Given the description of an element on the screen output the (x, y) to click on. 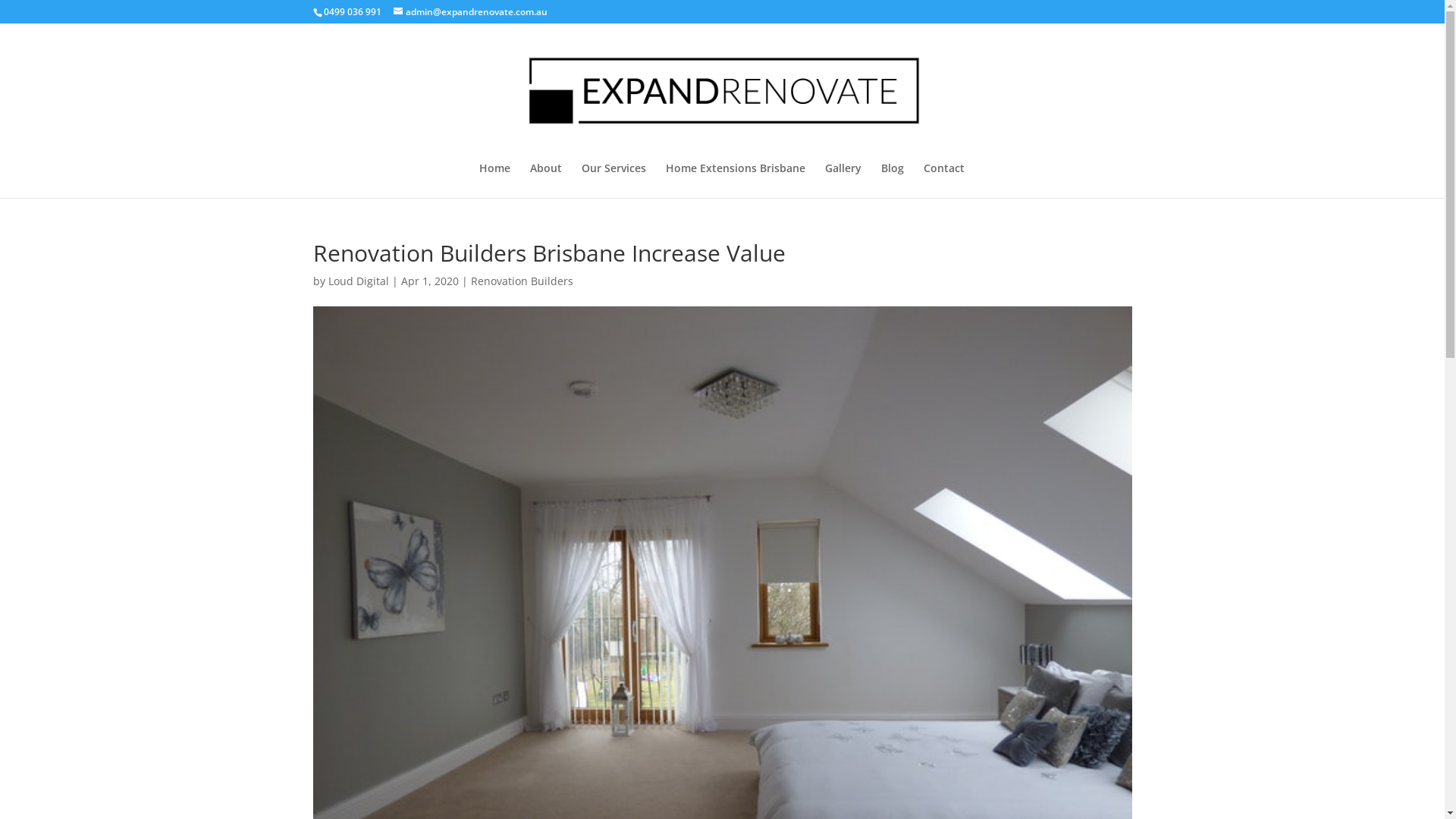
Loud Digital Element type: text (357, 280)
Contact Element type: text (943, 180)
About Element type: text (545, 180)
Renovation Builders Element type: text (521, 280)
Blog Element type: text (892, 180)
Gallery Element type: text (843, 180)
Home Element type: text (494, 180)
Our Services Element type: text (612, 180)
admin@expandrenovate.com.au Element type: text (469, 11)
Home Extensions Brisbane Element type: text (735, 180)
